Given the description of an element on the screen output the (x, y) to click on. 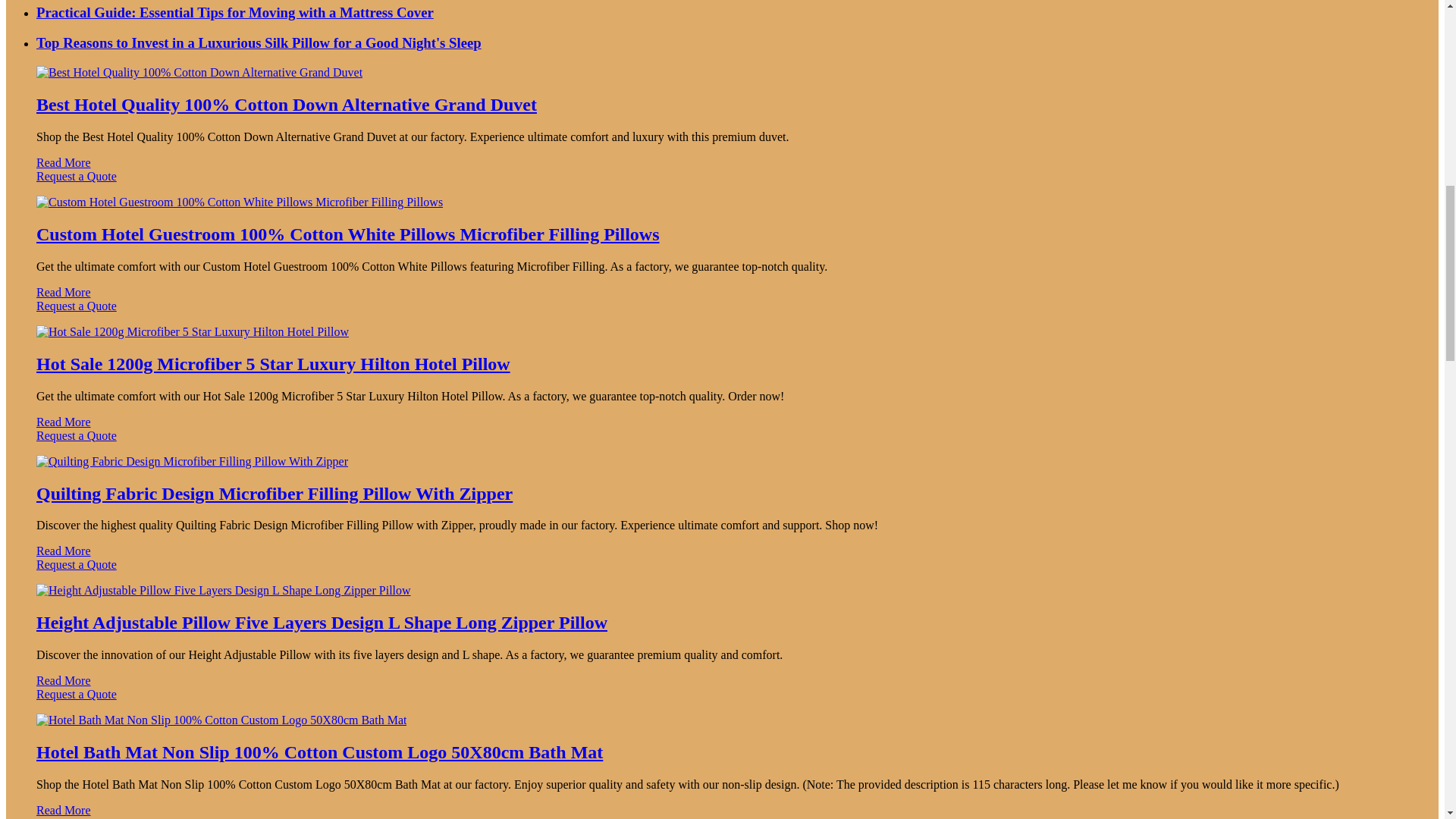
Read More (63, 162)
Request a Quote (721, 183)
Read More (63, 291)
Request a Quote (721, 312)
